Given the description of an element on the screen output the (x, y) to click on. 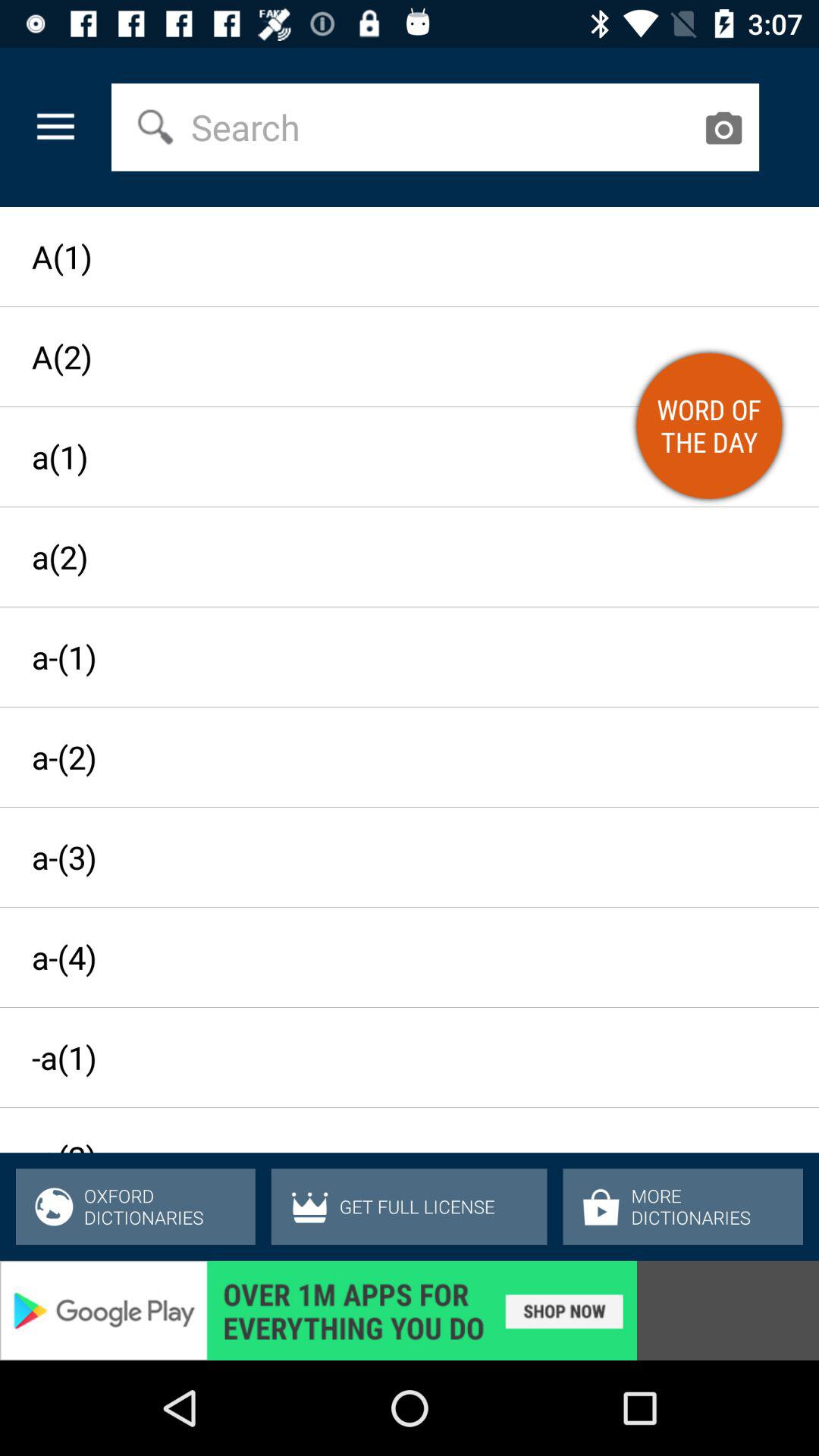
select the select field in the web page (441, 127)
click on orange color button on web page (708, 425)
click the play store icon which is left to more dictionaries (600, 1206)
